Given the description of an element on the screen output the (x, y) to click on. 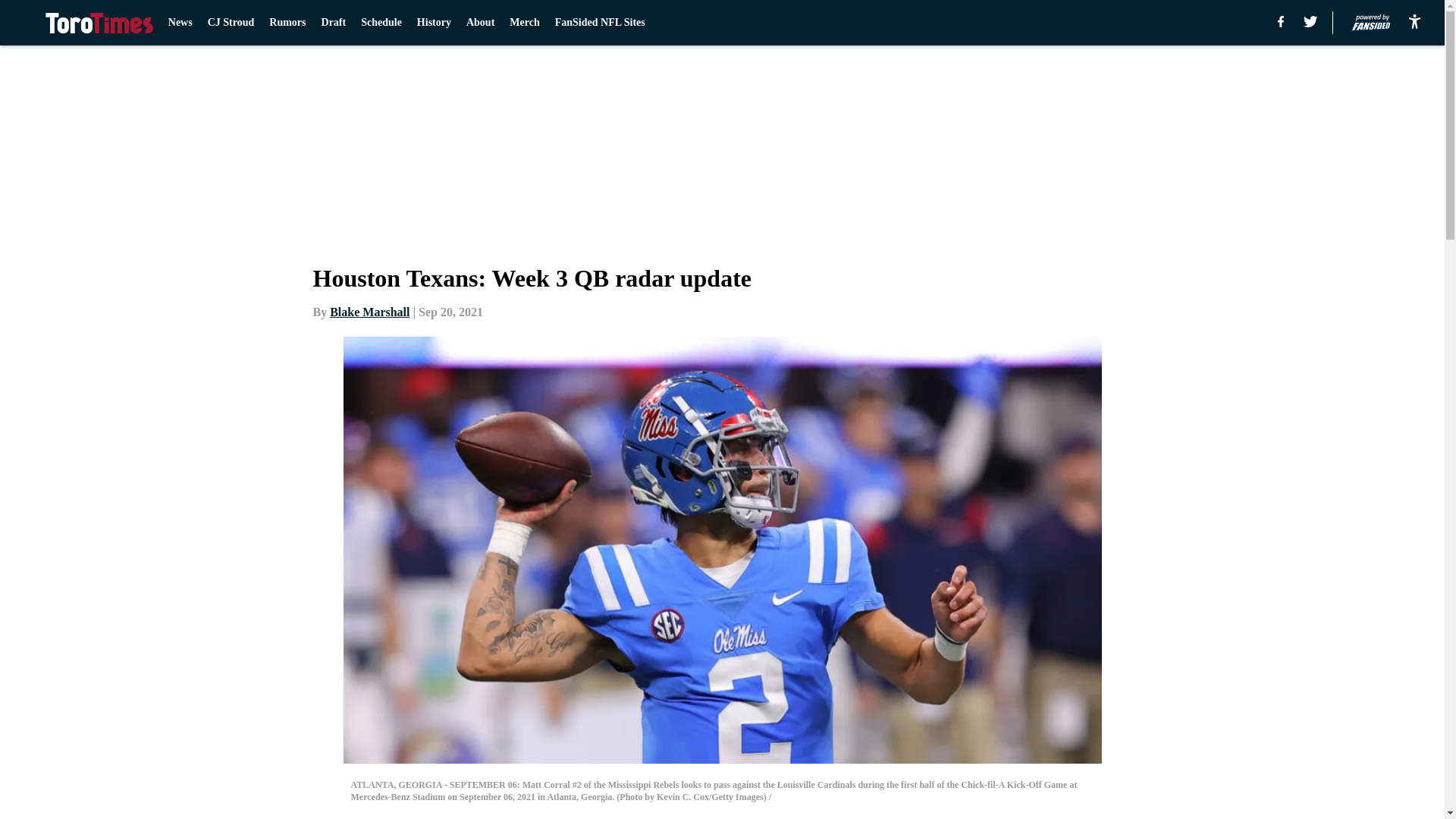
Merch (523, 22)
News (180, 22)
History (433, 22)
Blake Marshall (369, 311)
CJ Stroud (231, 22)
About (480, 22)
Rumors (287, 22)
Draft (333, 22)
Schedule (381, 22)
FanSided NFL Sites (599, 22)
